Given the description of an element on the screen output the (x, y) to click on. 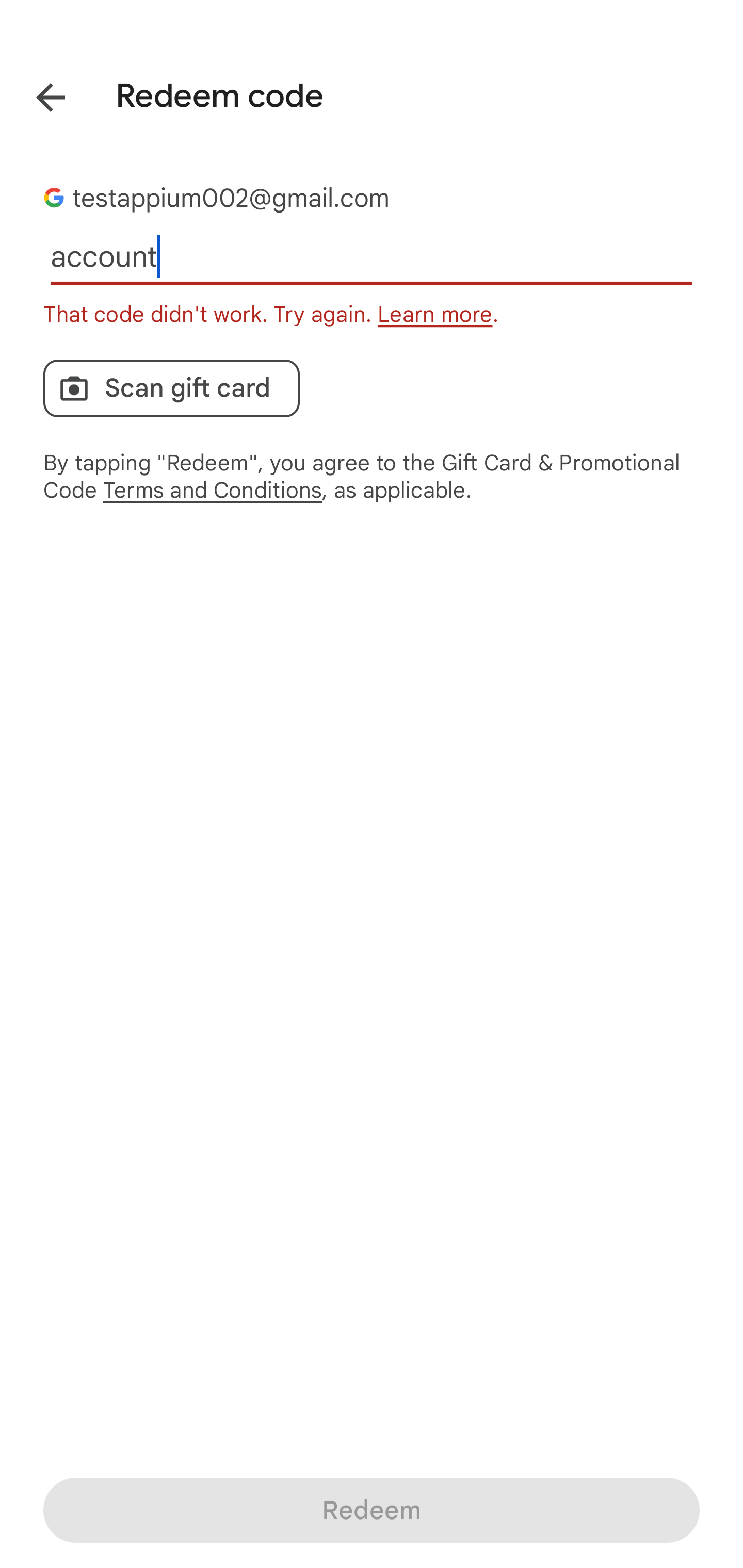
Back (36, 94)
account (371, 256)
Scan gift card (171, 388)
